Given the description of an element on the screen output the (x, y) to click on. 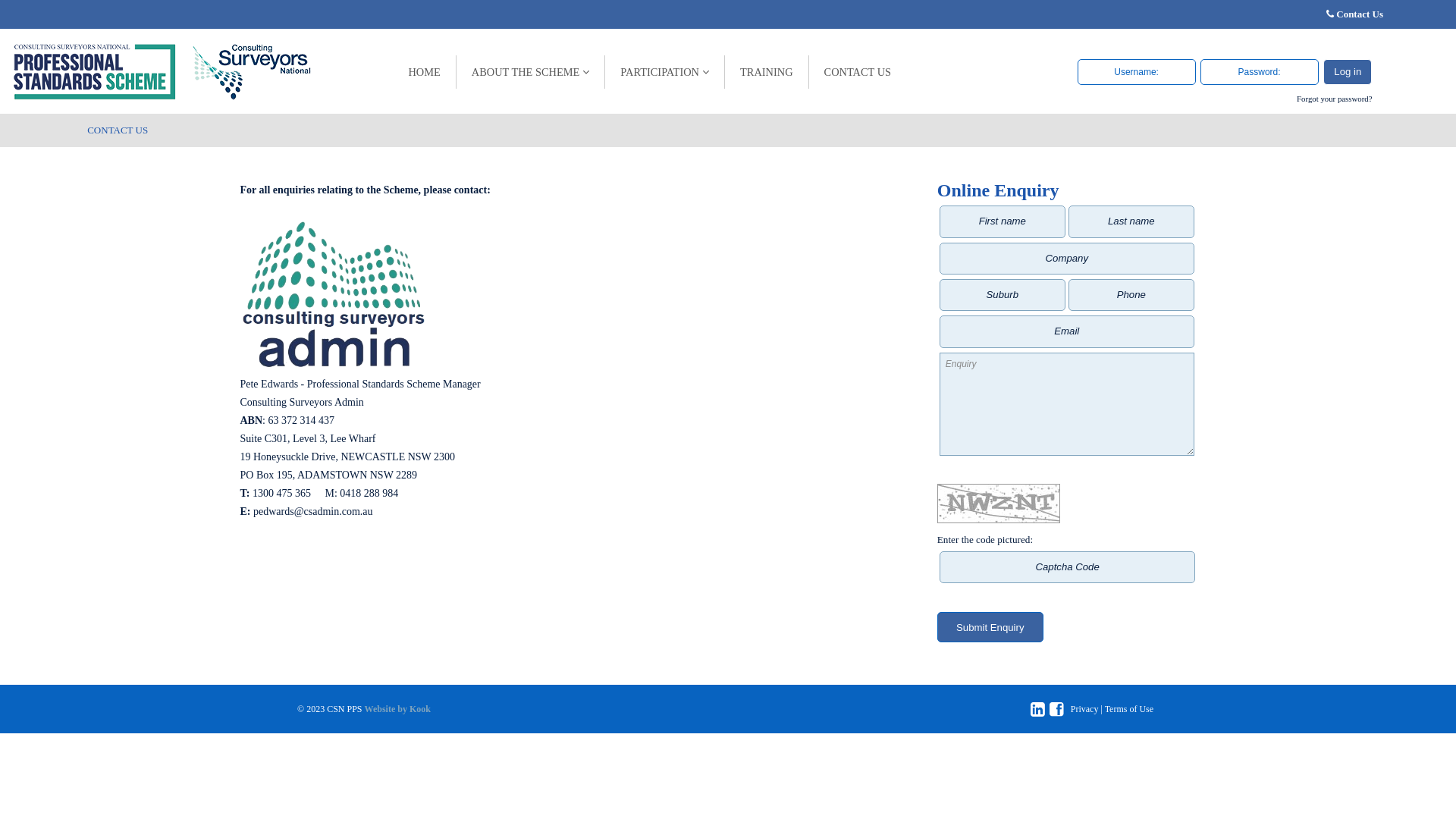
Privacy Element type: text (1084, 708)
Forgot your password? Element type: text (1333, 98)
CONTACT US Element type: text (857, 71)
TRAINING Element type: text (766, 71)
ABOUT THE SCHEME Element type: text (530, 71)
Submit Enquiry Element type: text (990, 626)
HOME Element type: text (423, 71)
Website by Kook Element type: text (397, 708)
Contact Us Element type: text (1359, 13)
PARTICIPATION Element type: text (664, 71)
Log in Element type: text (1347, 71)
Terms of Use Element type: text (1128, 708)
